Given the description of an element on the screen output the (x, y) to click on. 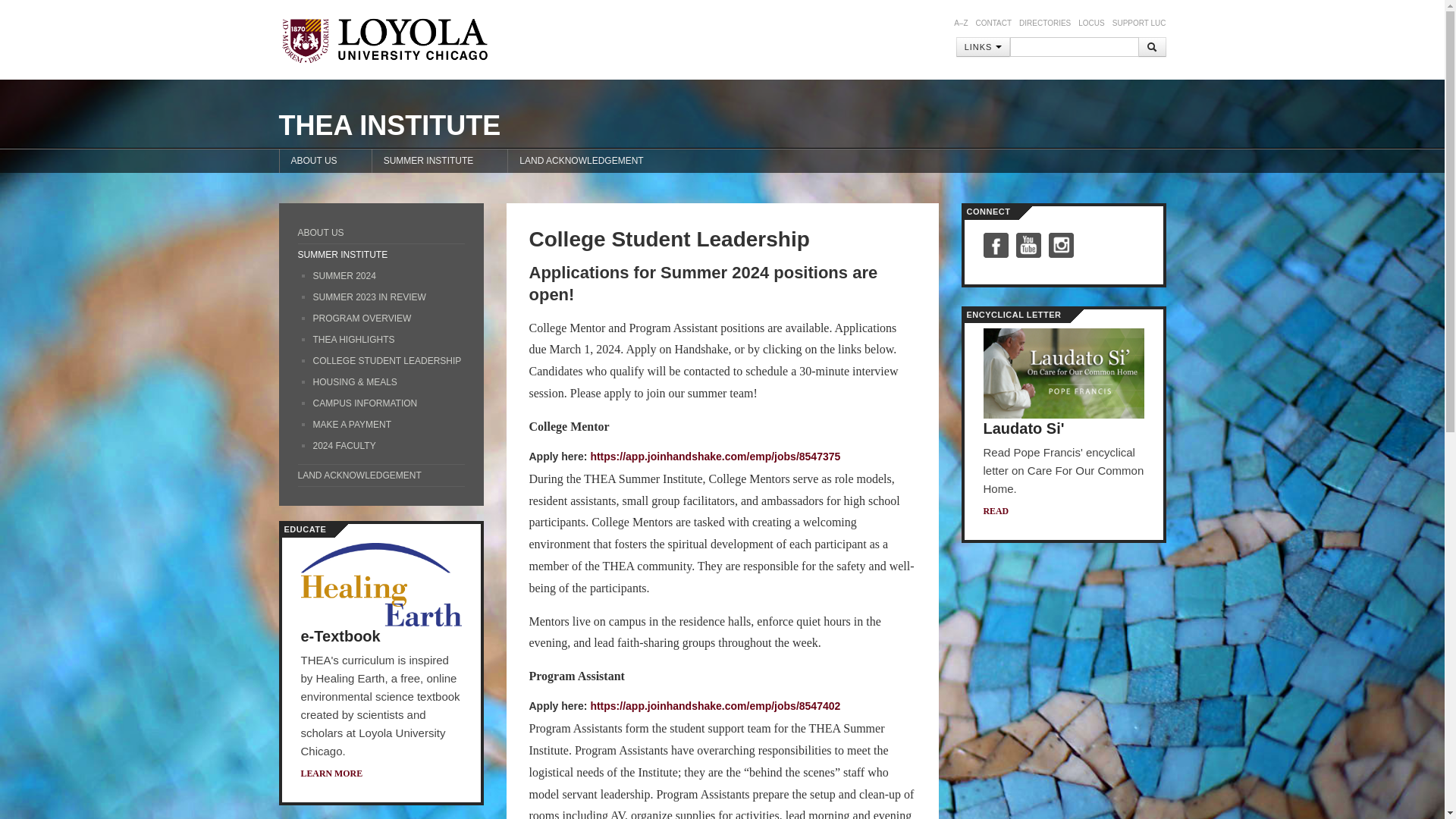
DIRECTORIES (1044, 22)
LOCUS (1090, 22)
SUPPORT LUC (1139, 22)
Search Field (1074, 46)
LINKS (983, 46)
CONTACT (993, 22)
